Given the description of an element on the screen output the (x, y) to click on. 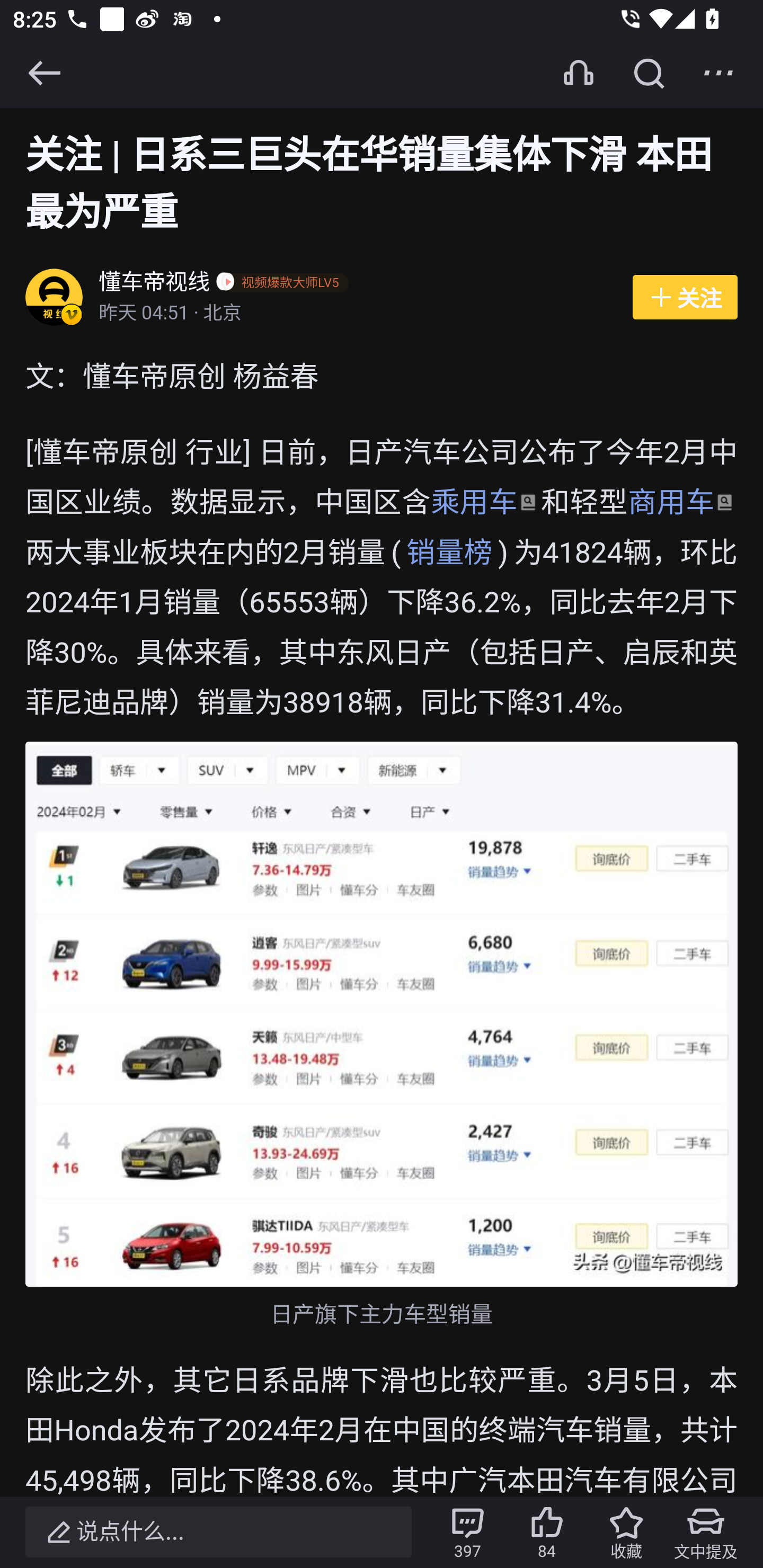
 (44, 72)
 (648, 72)
 (718, 72)
懂车帝视线 (154, 283)
c9cb558bacd790f5b8d2c5f3a44a9243 视频爆款大师LV5 (285, 283)
关注 (684, 297)
昨天 04:51 · 北京 昨天 04:51  · 北京 (355, 314)
销量榜 (448, 553)
b5sRPxZE6ga5ZtDJBQ9thItfzIU (381, 1013)
 397 (467, 1531)
84 (546, 1531)
收藏 (625, 1531)
 文中提及 (705, 1531)
 说点什么... (218, 1531)
